Given the description of an element on the screen output the (x, y) to click on. 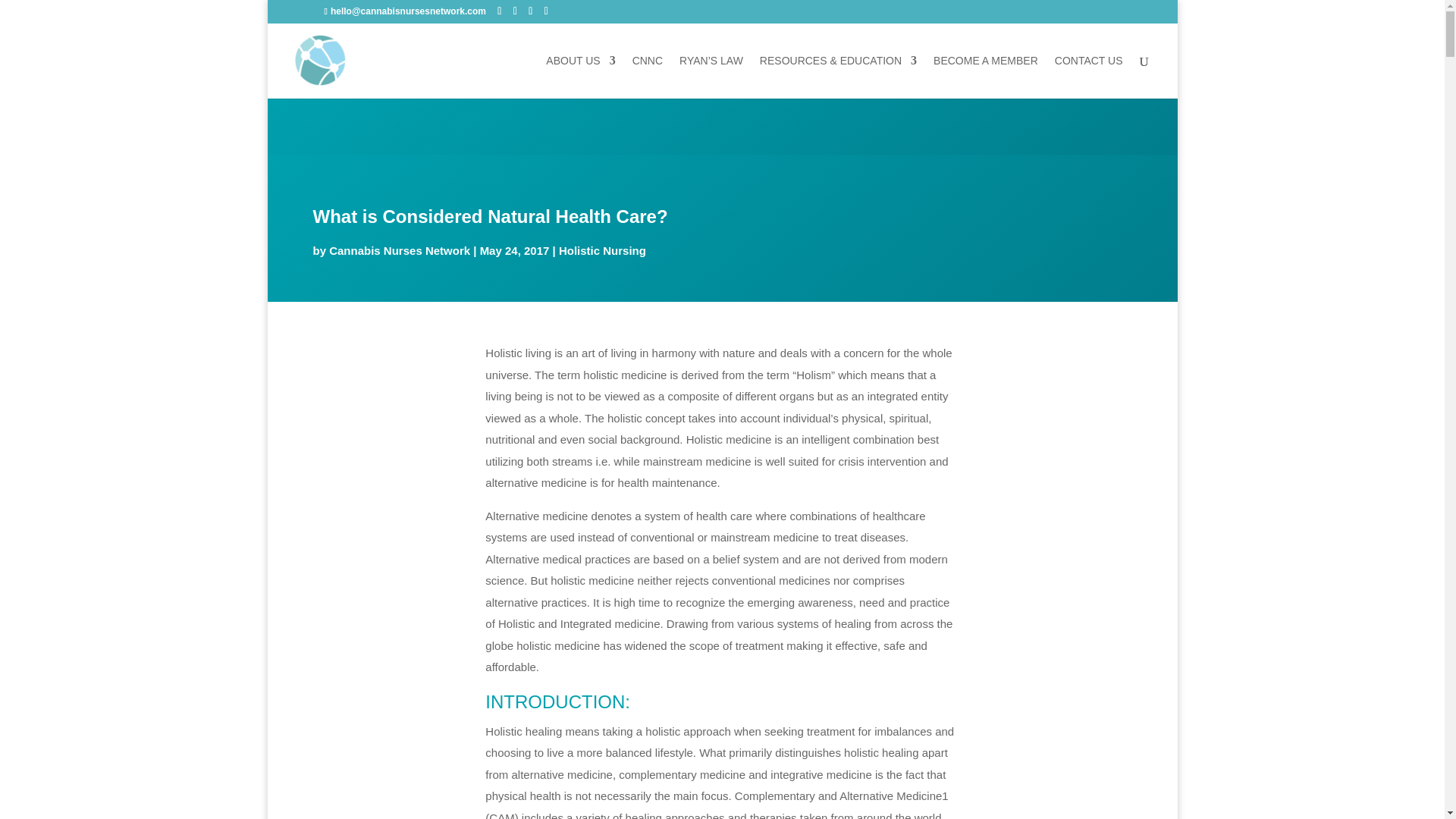
Cannabis Nurses Network (399, 250)
BECOME A MEMBER (985, 76)
ABOUT US (580, 76)
Posts by Cannabis Nurses Network (399, 250)
CONTACT US (1088, 76)
Holistic Nursing (602, 250)
